Given the description of an element on the screen output the (x, y) to click on. 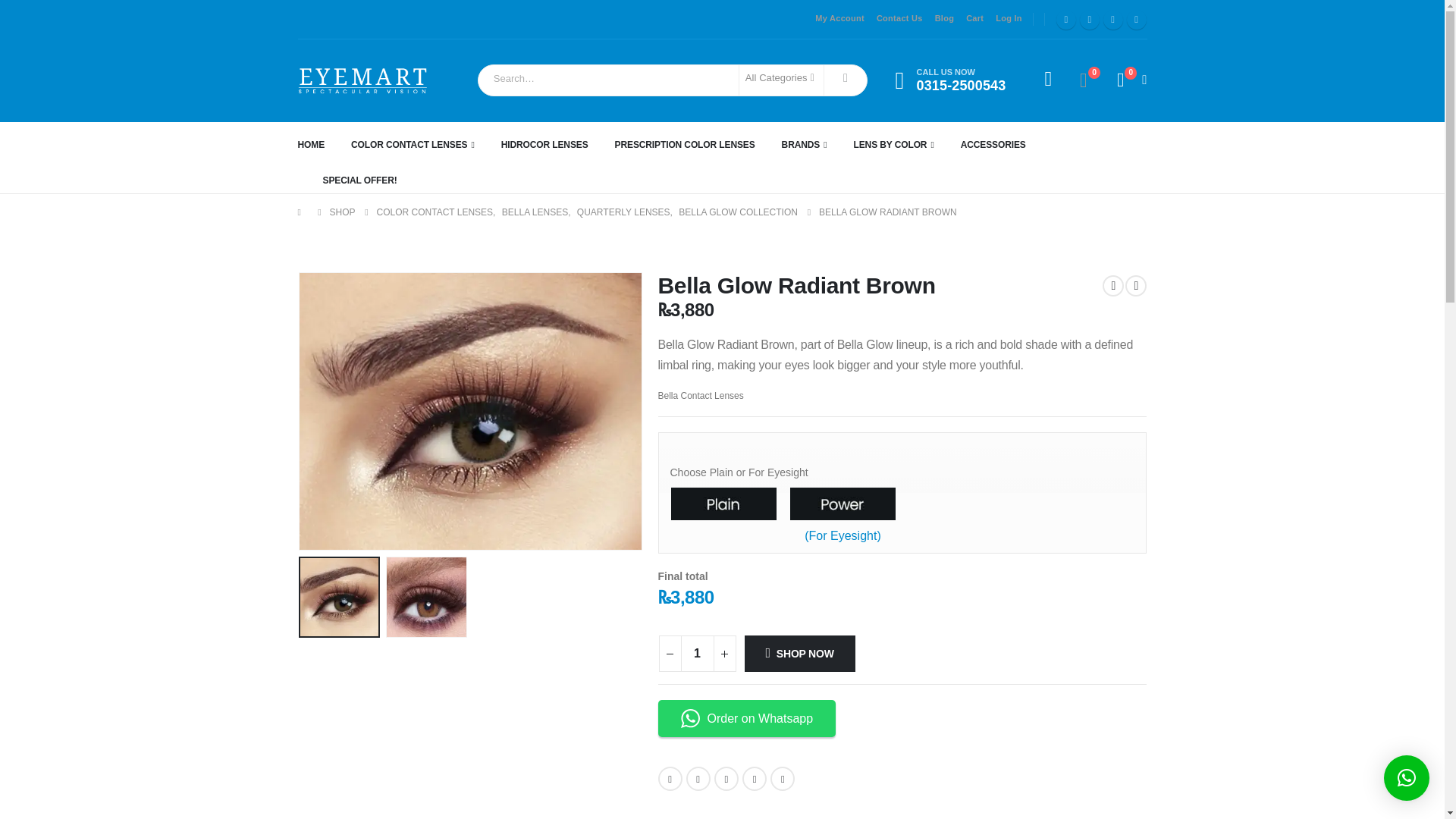
Wishlist (1083, 80)
My Account (839, 19)
Bella Glow Radiant Brown (338, 596)
COLOR CONTACT LENSES (425, 144)
1 (697, 653)
Bella Glow Radiant Brown (469, 410)
HOME (323, 144)
Blog (955, 79)
Tiktok (944, 19)
Radiant Brown (1136, 19)
Facebook (426, 597)
Instagram (1066, 19)
0 (1112, 19)
Search (1083, 80)
